Given the description of an element on the screen output the (x, y) to click on. 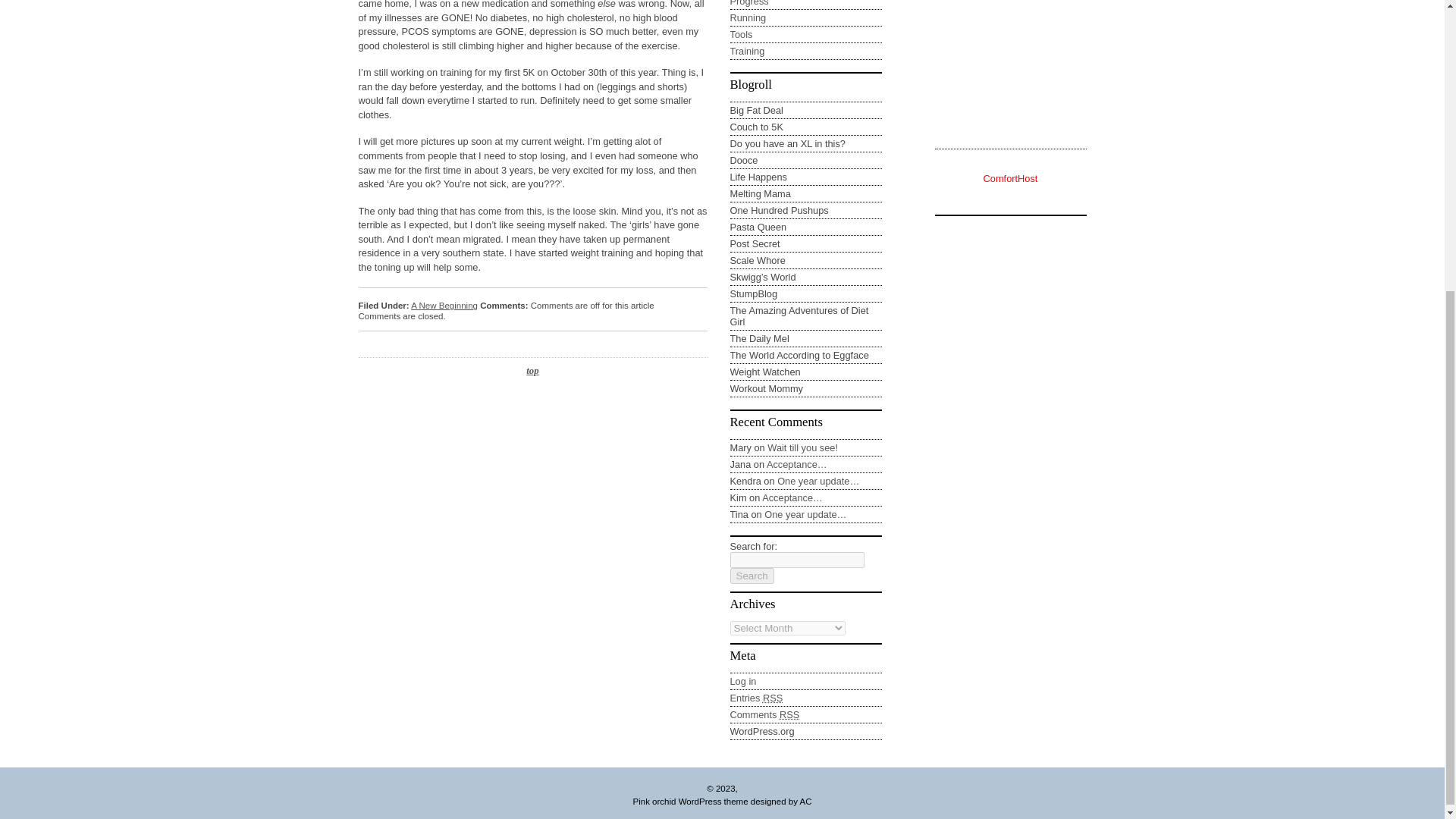
Progress (748, 3)
View all posts in A New Beginning (443, 305)
Search (751, 575)
Progress (748, 3)
Running (747, 17)
Comments RSS (764, 714)
Entries RSS (756, 697)
A New Beginning (443, 305)
Wait till you see! (802, 447)
Training (746, 50)
